Given the description of an element on the screen output the (x, y) to click on. 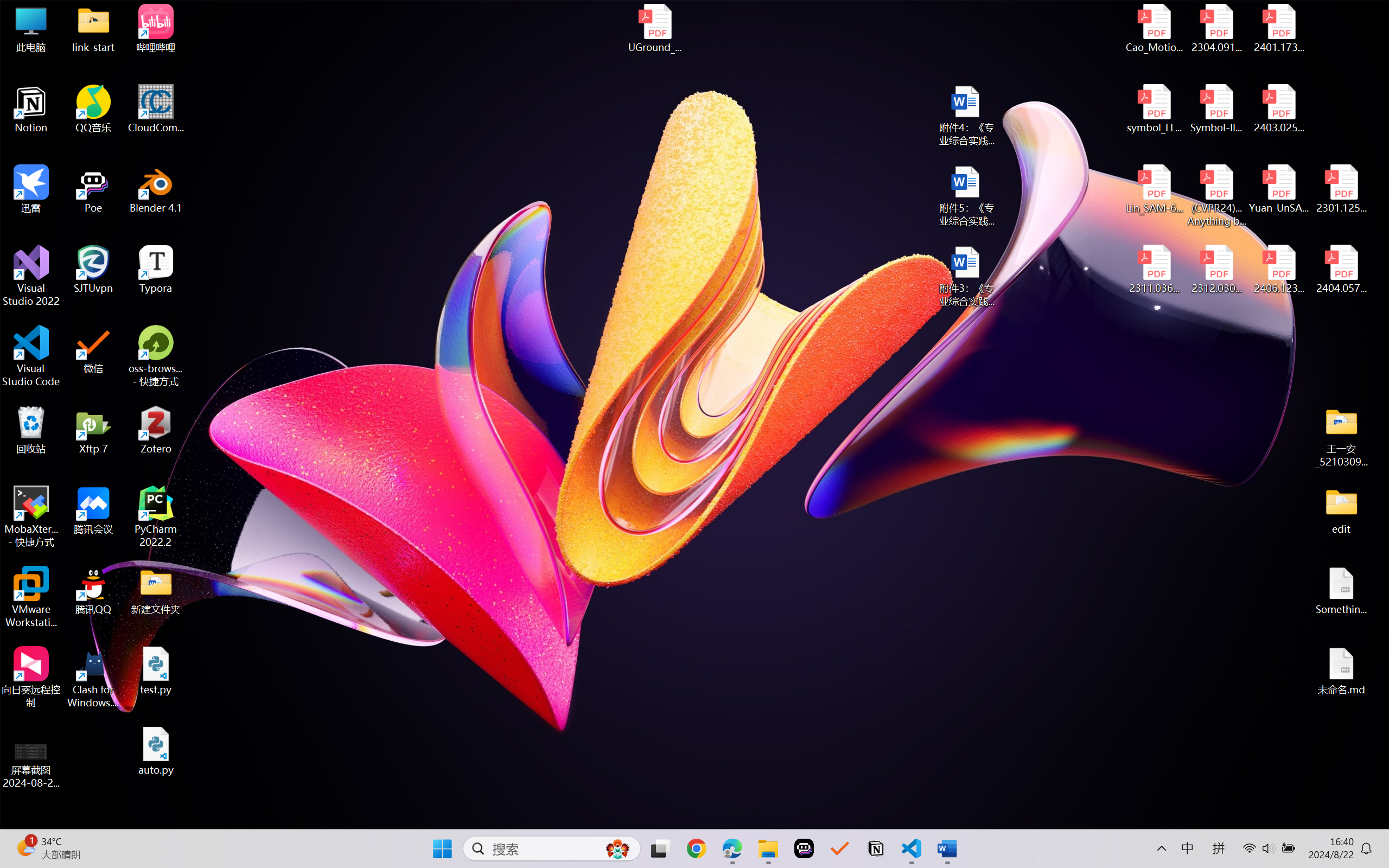
2403.02502v1.pdf (1278, 109)
Poe (93, 189)
Symbol-llm-v2.pdf (1216, 109)
2401.17399v1.pdf (1278, 28)
